Given the description of an element on the screen output the (x, y) to click on. 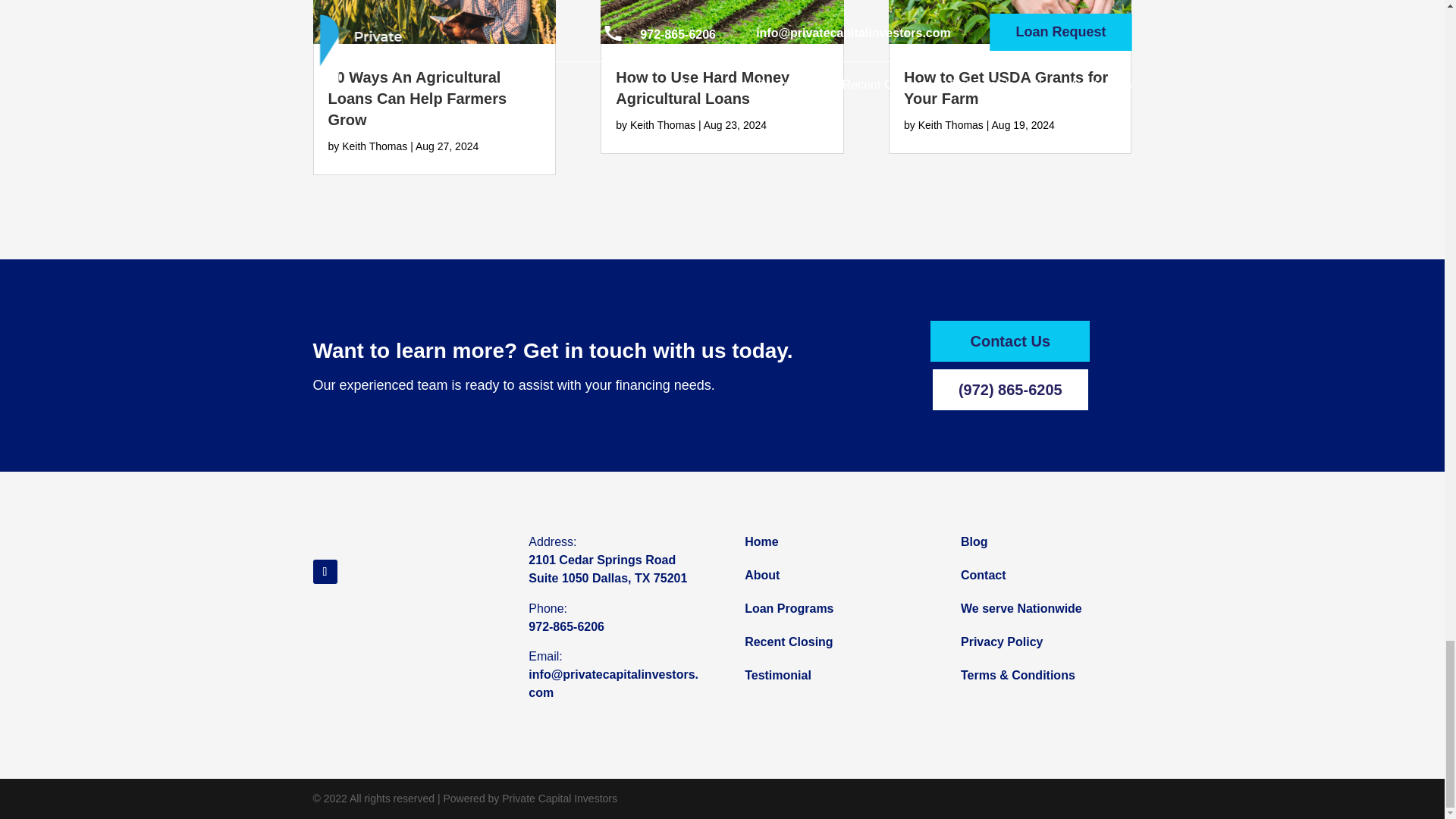
Posts by Keith Thomas (951, 124)
Posts by Keith Thomas (374, 146)
Posts by Keith Thomas (662, 124)
10 Ways An Agricultural Loans Can Help Farmers Grow (416, 97)
Keith Thomas (951, 124)
Keith Thomas (662, 124)
Contact Us (1009, 341)
Follow on LinkedIn (324, 571)
Keith Thomas (374, 146)
How to Get USDA Grants for Your Farm (1006, 87)
